Given the description of an element on the screen output the (x, y) to click on. 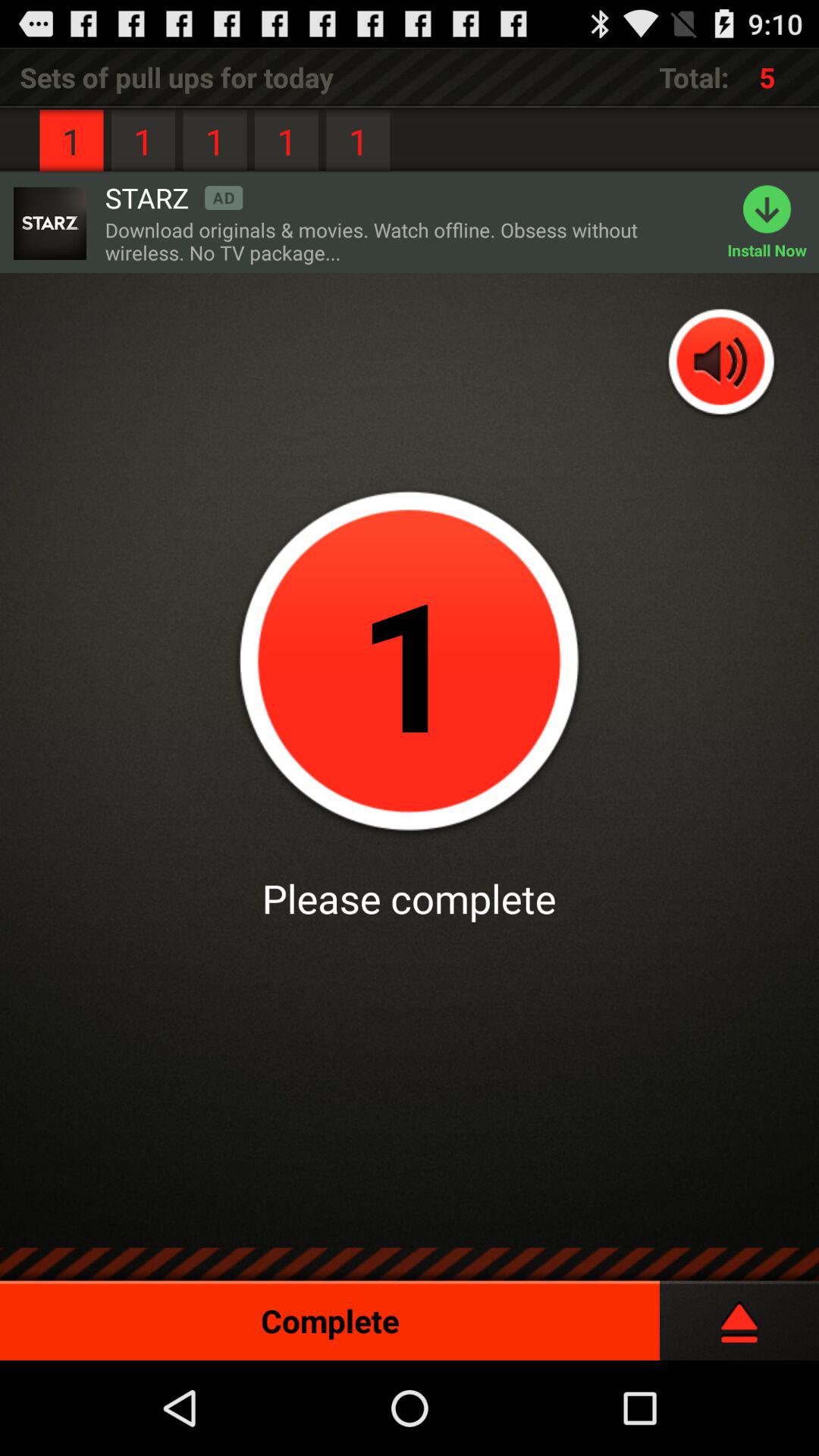
turn off item below starz app (408, 241)
